Given the description of an element on the screen output the (x, y) to click on. 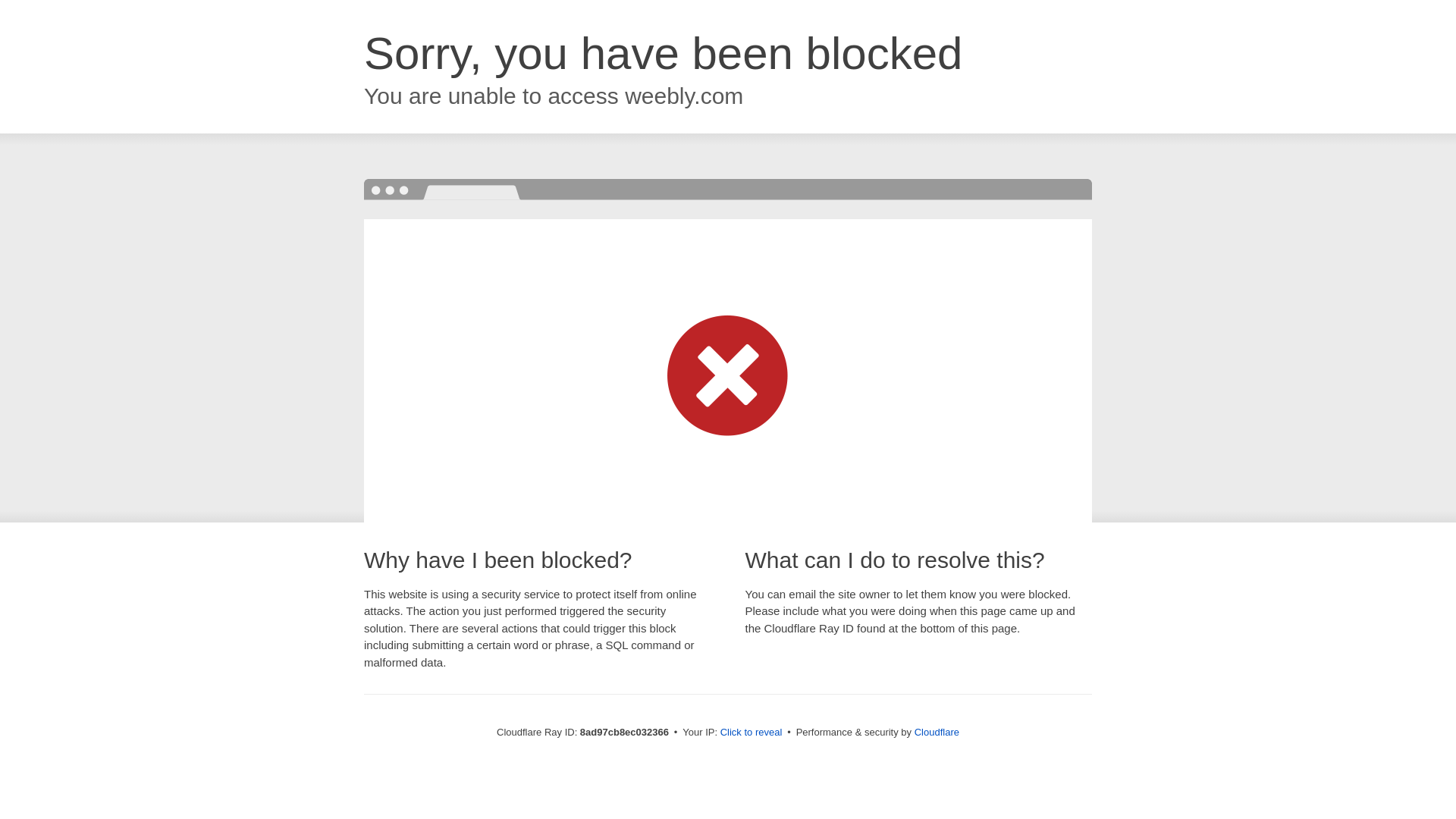
Click to reveal (751, 732)
Cloudflare (936, 731)
